Given the description of an element on the screen output the (x, y) to click on. 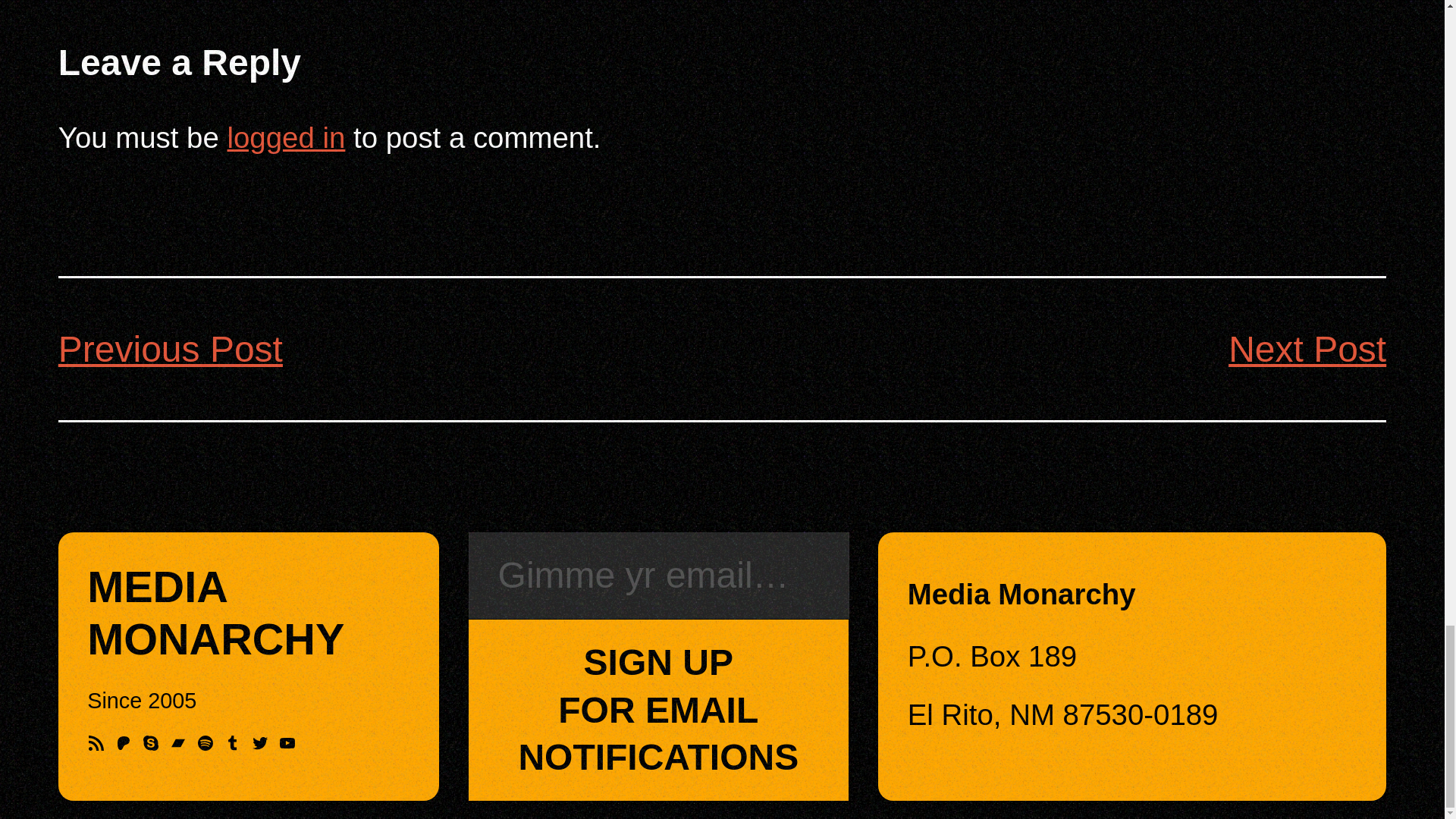
Spotify (205, 742)
RSS Feed (95, 742)
YouTube (287, 742)
Next Post (1307, 349)
Please fill in this field. (658, 575)
Twitter (259, 742)
MEDIA MONARCHY (215, 612)
Patreon (123, 742)
Tumblr (232, 742)
Skype (150, 742)
